Given the description of an element on the screen output the (x, y) to click on. 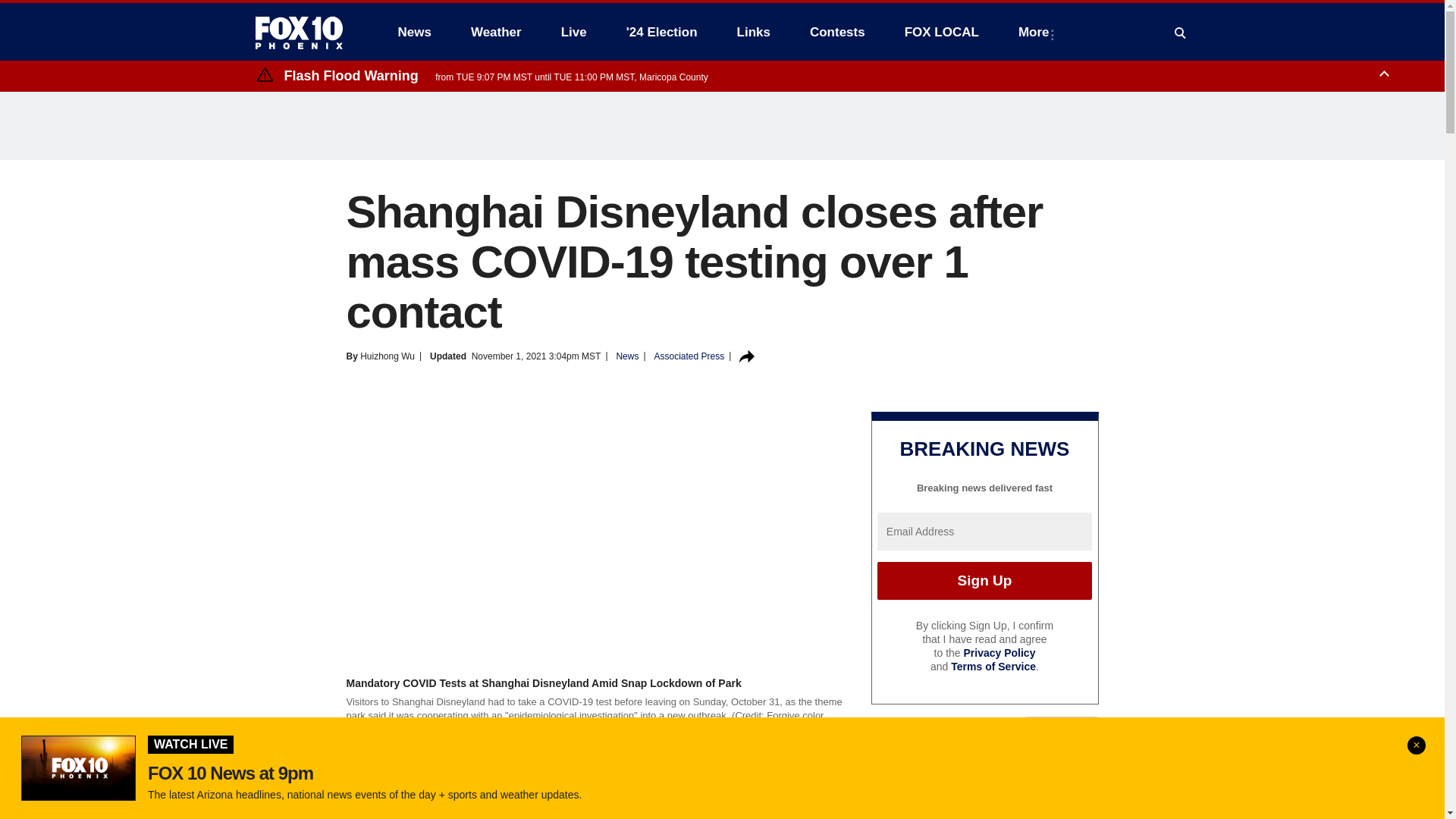
Weather (496, 32)
News (413, 32)
FOX LOCAL (941, 32)
'24 Election (662, 32)
Links (754, 32)
Contests (837, 32)
Live (573, 32)
Sign Up (984, 580)
More (1036, 32)
